Given the description of an element on the screen output the (x, y) to click on. 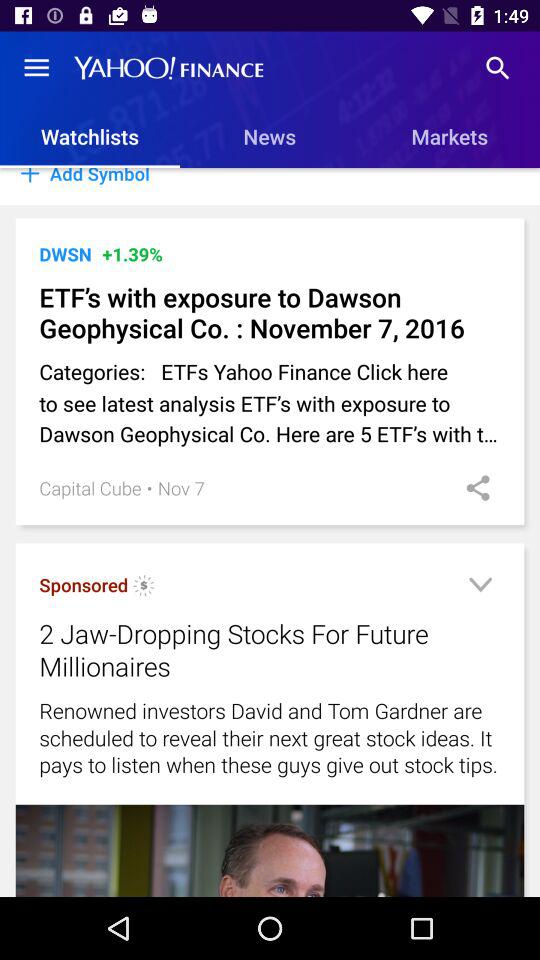
press the add symbol (270, 186)
